Given the description of an element on the screen output the (x, y) to click on. 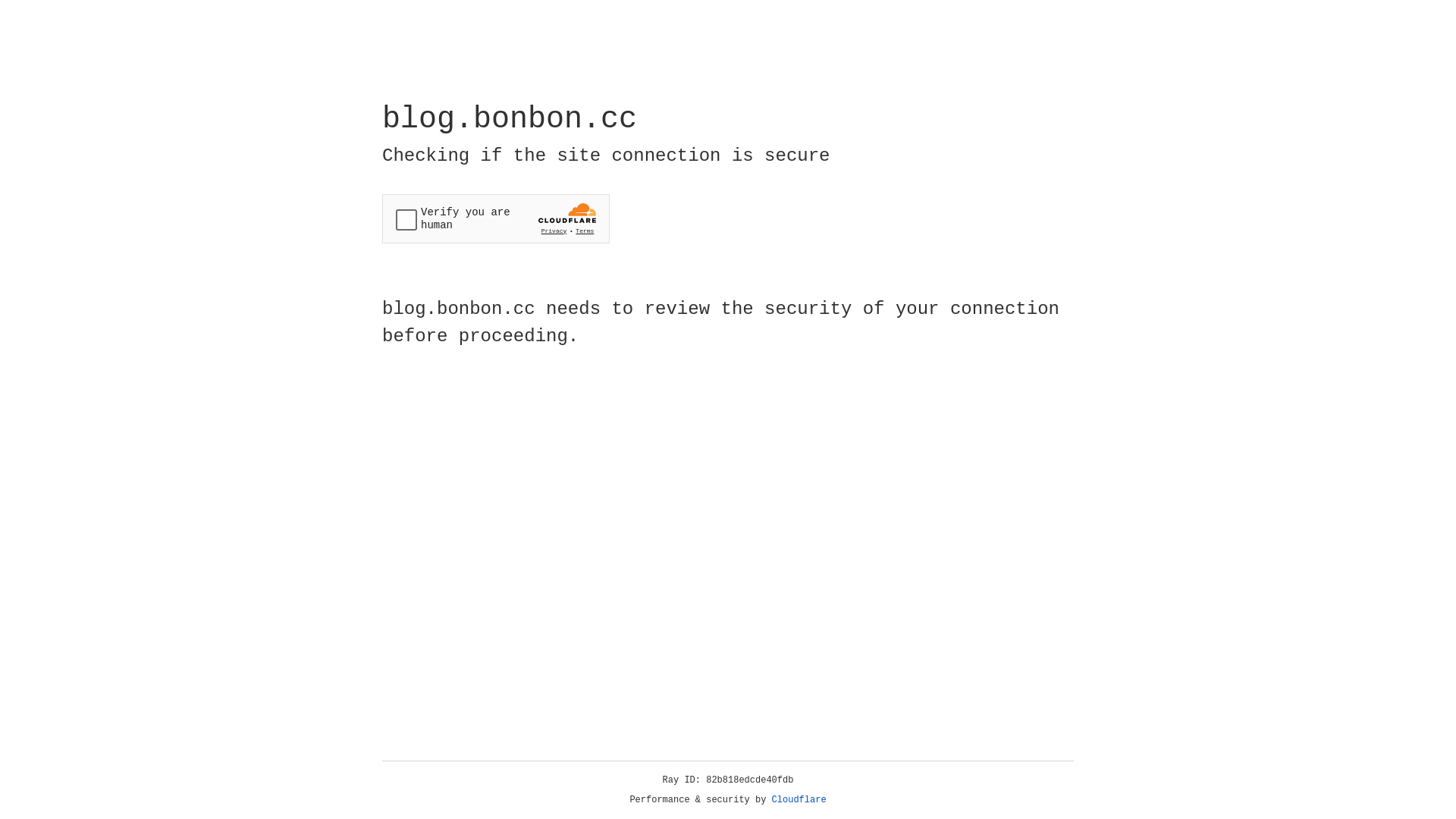
Cloudflare Element type: text (798, 799)
Widget containing a Cloudflare security challenge Element type: hover (495, 218)
